Given the description of an element on the screen output the (x, y) to click on. 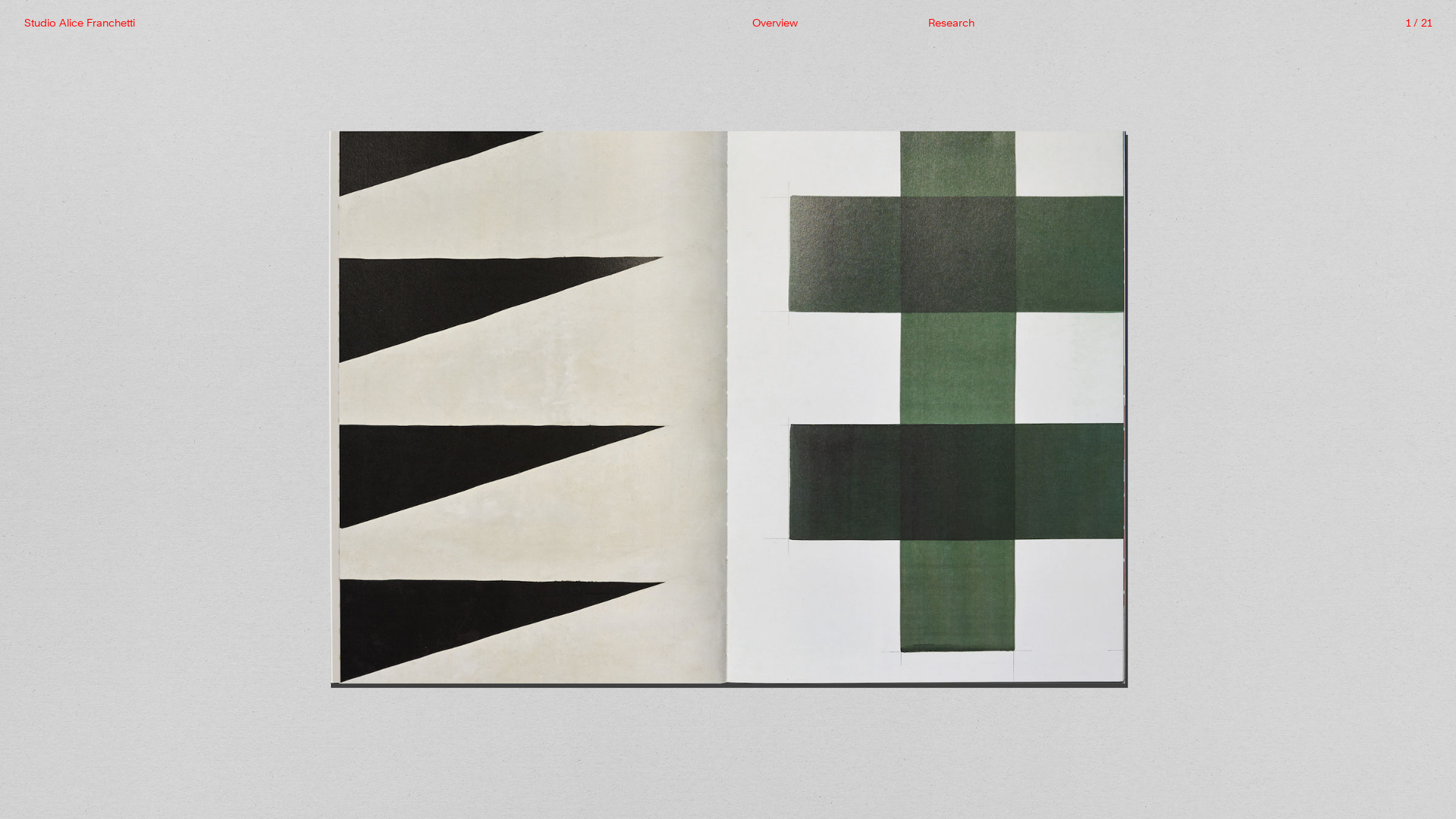
Research Element type: text (1003, 23)
Overview Element type: text (827, 23)
Studio Alice Franchetti Element type: text (79, 23)
